Given the description of an element on the screen output the (x, y) to click on. 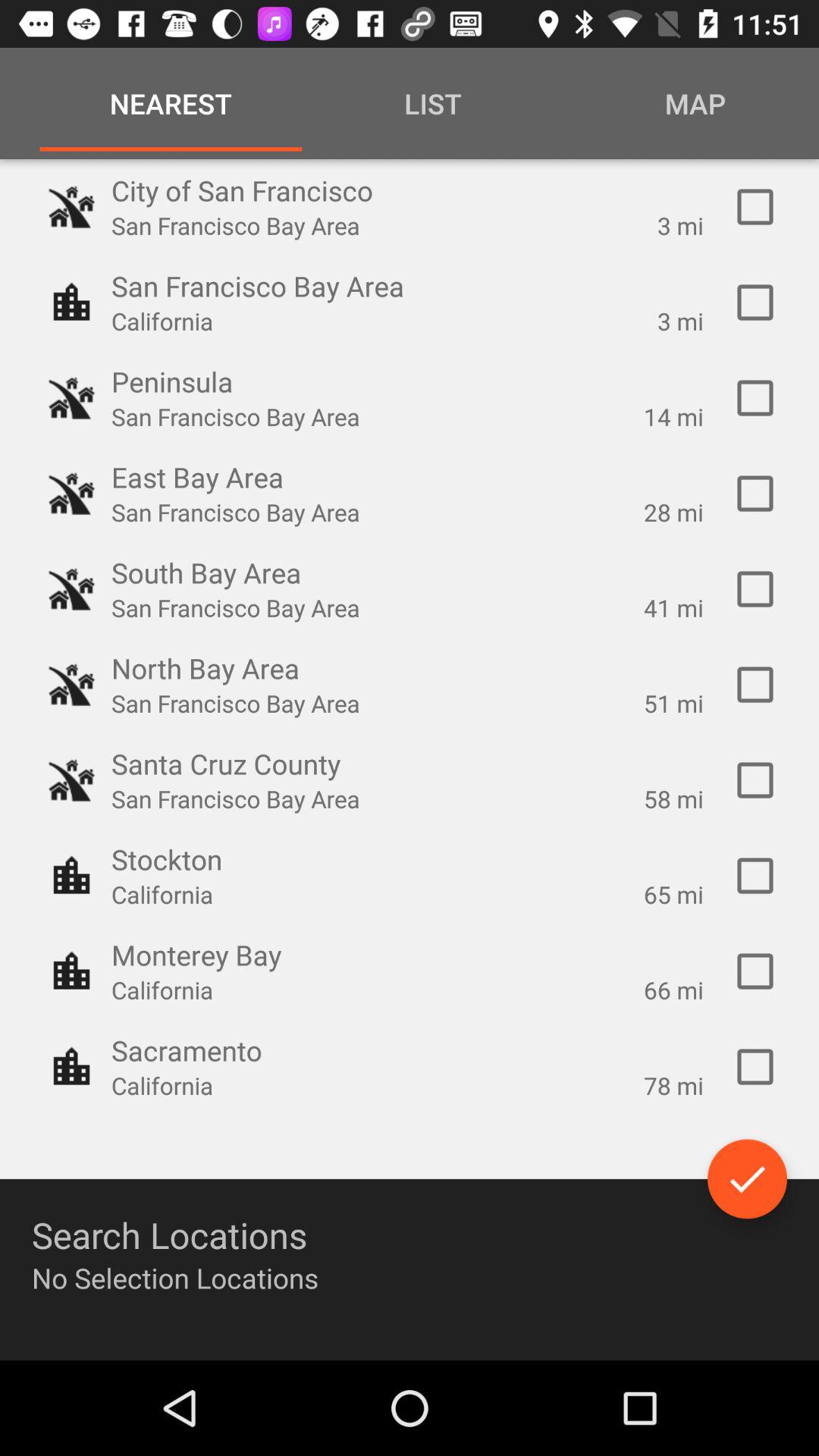
select santa cruz county (755, 780)
